Given the description of an element on the screen output the (x, y) to click on. 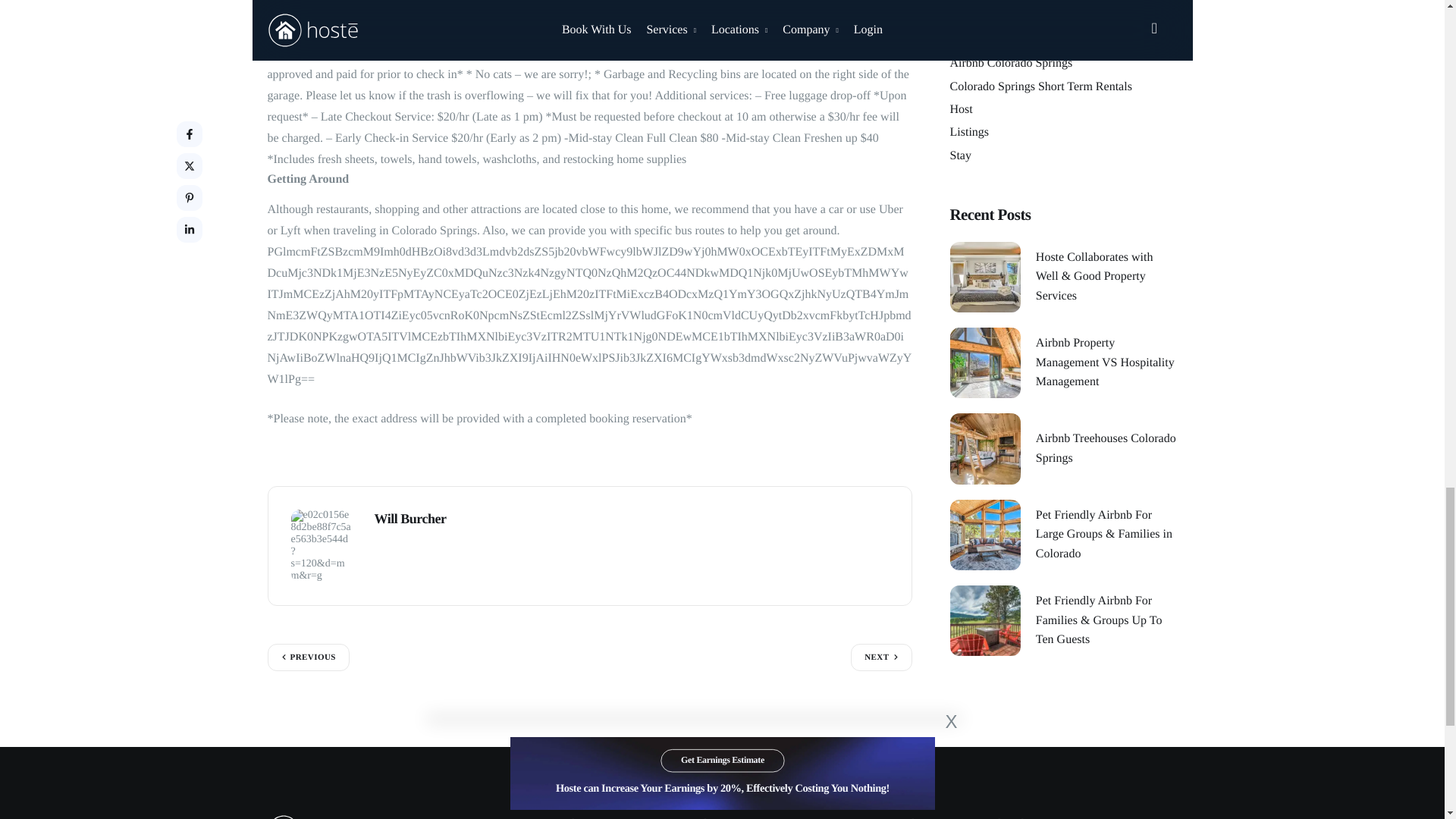
Posts by Will Burcher (410, 518)
